Given the description of an element on the screen output the (x, y) to click on. 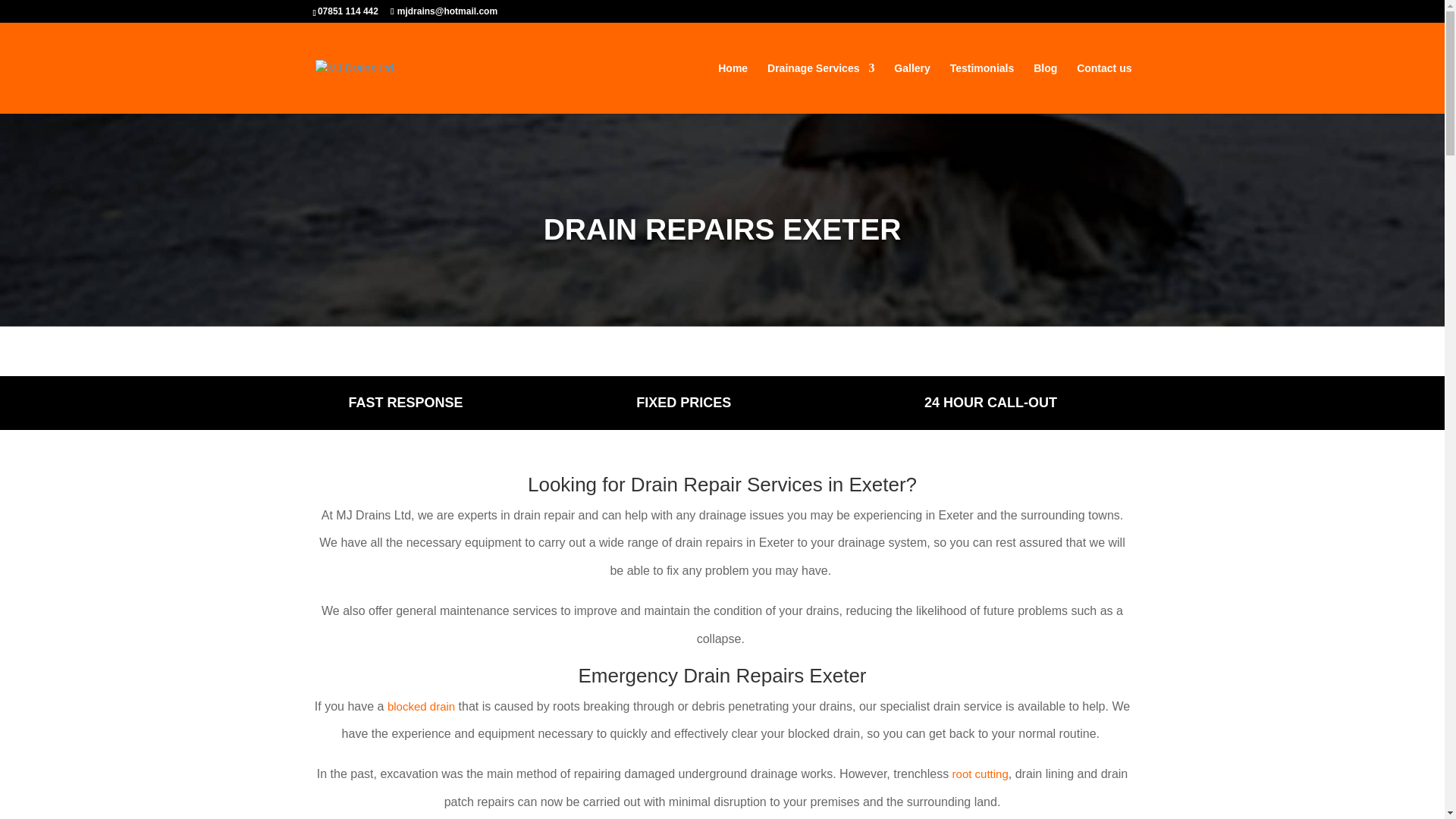
blocked drain (420, 706)
root cutting (980, 773)
Testimonials (982, 88)
Contact us (1104, 88)
Drainage Services (821, 88)
